Given the description of an element on the screen output the (x, y) to click on. 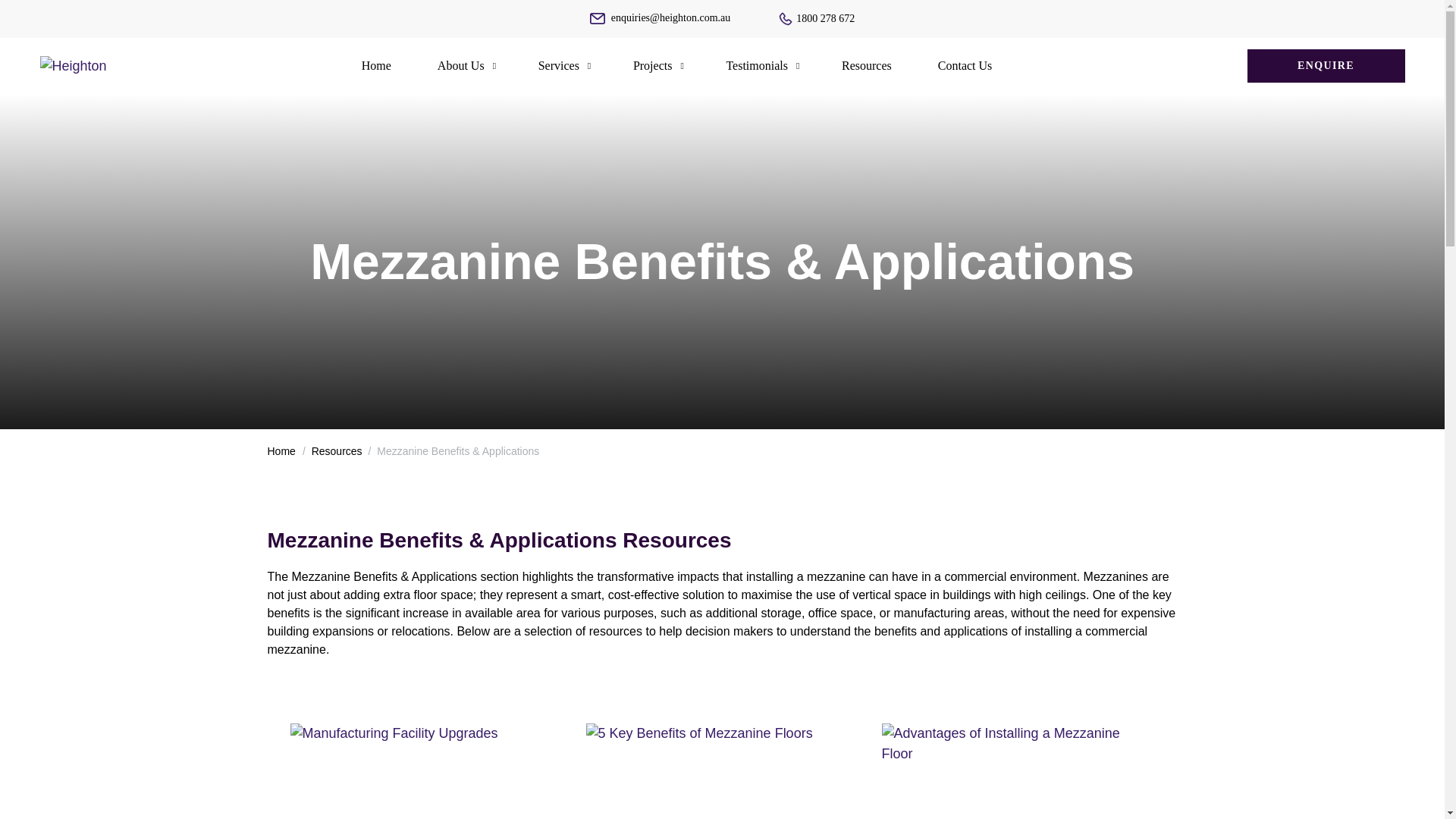
About Us (460, 65)
Resources (866, 65)
Resources (336, 451)
Home (376, 65)
Home (280, 451)
1800 278 672 (816, 18)
Facility Upgrade Project Plan - Heighton - Heighton (425, 771)
Testimonials (756, 65)
Services (557, 65)
Contact Us (965, 65)
SC201629-1-1600x800 thumb - Heighton - Heighton (722, 771)
Projects (652, 65)
ENQUIRE (1325, 65)
